Given the description of an element on the screen output the (x, y) to click on. 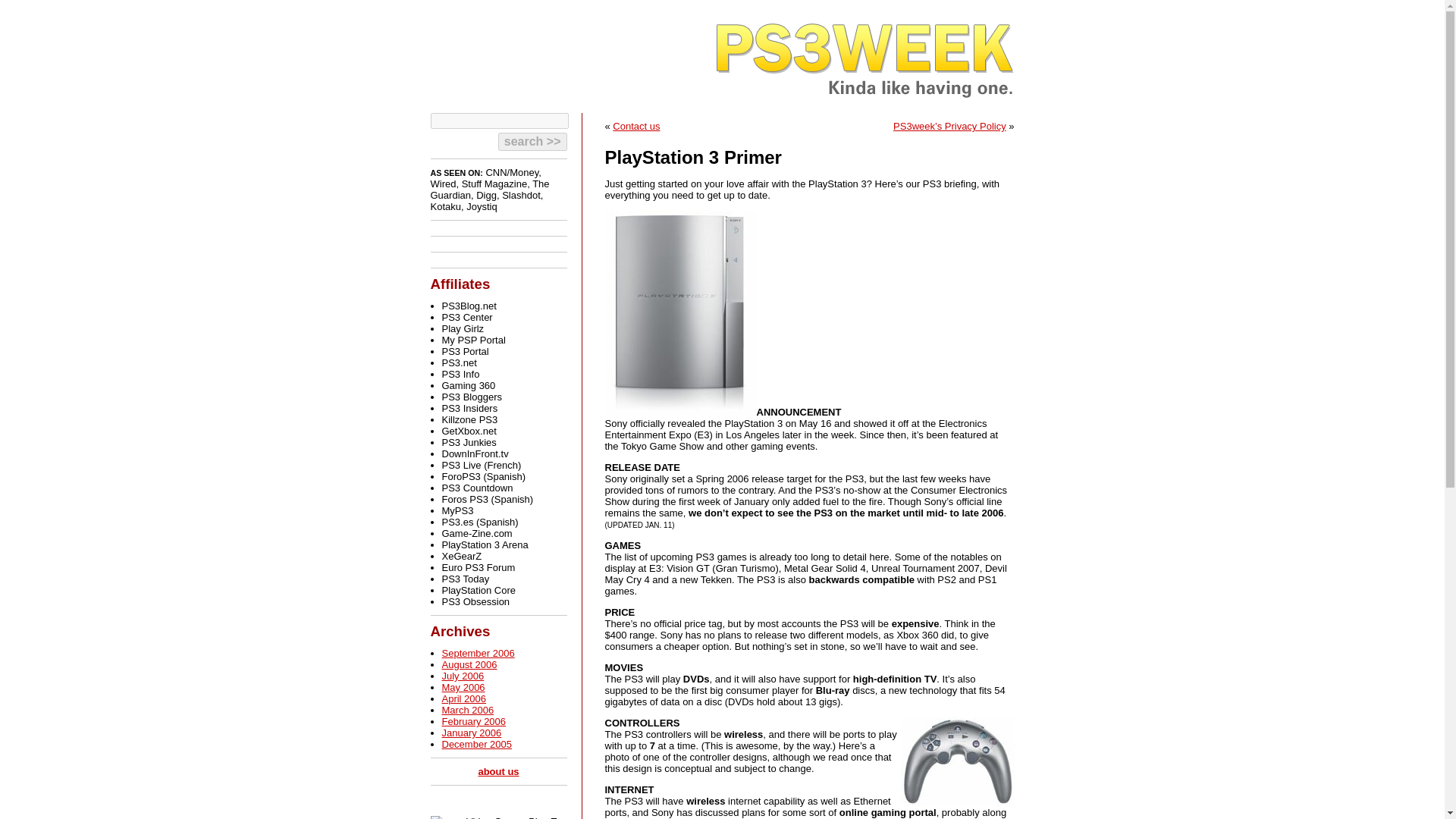
December 2005 (476, 744)
PlayStation 3 Primer (693, 157)
May 2006 (462, 686)
about us (497, 771)
August 2006 (468, 664)
March 2006 (467, 709)
February 2006 (473, 721)
July 2006 (462, 675)
July 2006 (462, 675)
February 2006 (473, 721)
